Given the description of an element on the screen output the (x, y) to click on. 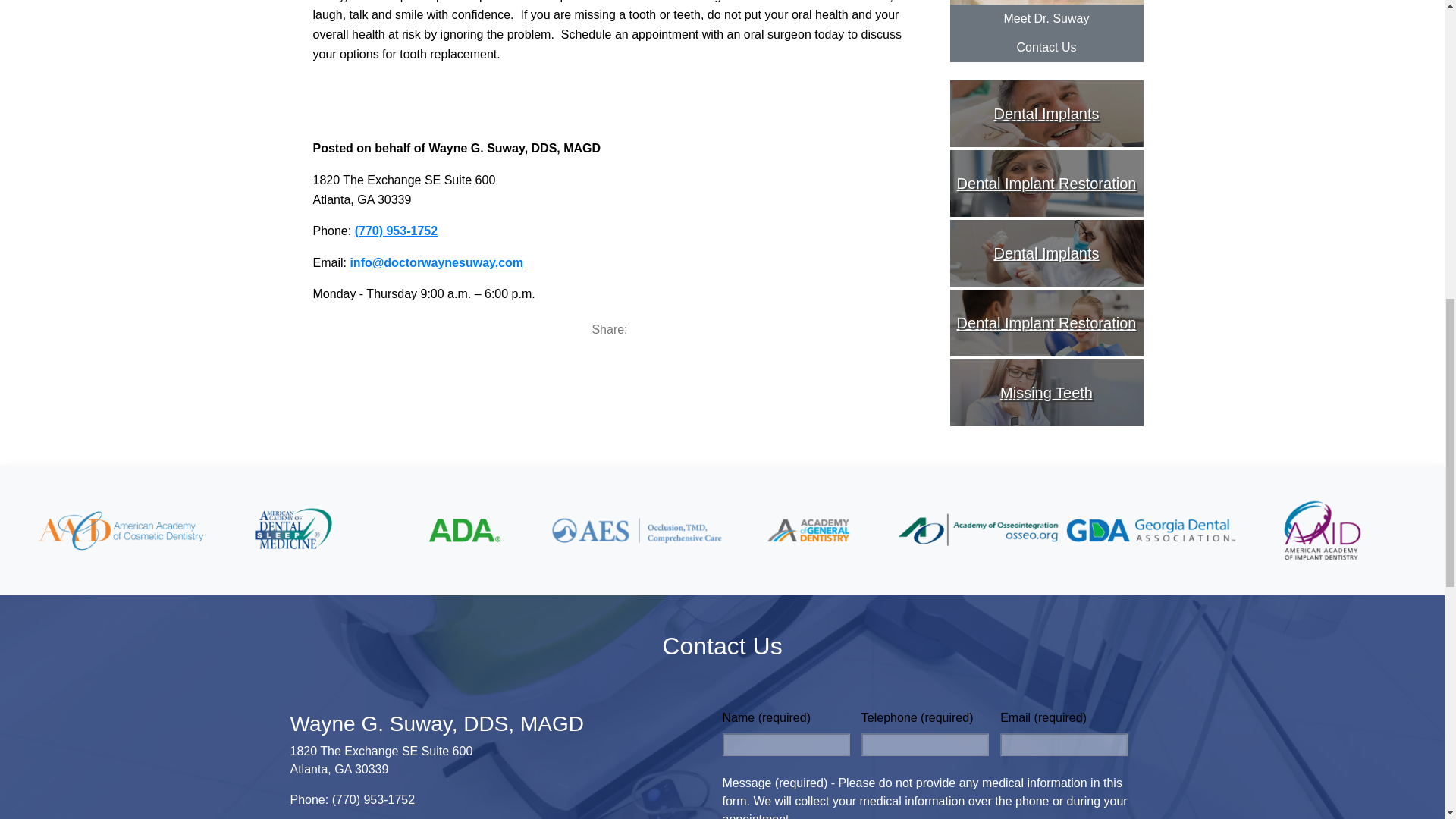
Contact Us (1045, 47)
Missing Teeth (1045, 392)
Dental Implants (1045, 253)
Dental Implant Restoration (1045, 322)
Dental Implant Restoration (1045, 183)
Dental Implants (1045, 113)
Meet Dr. Suway (1045, 18)
